Given the description of an element on the screen output the (x, y) to click on. 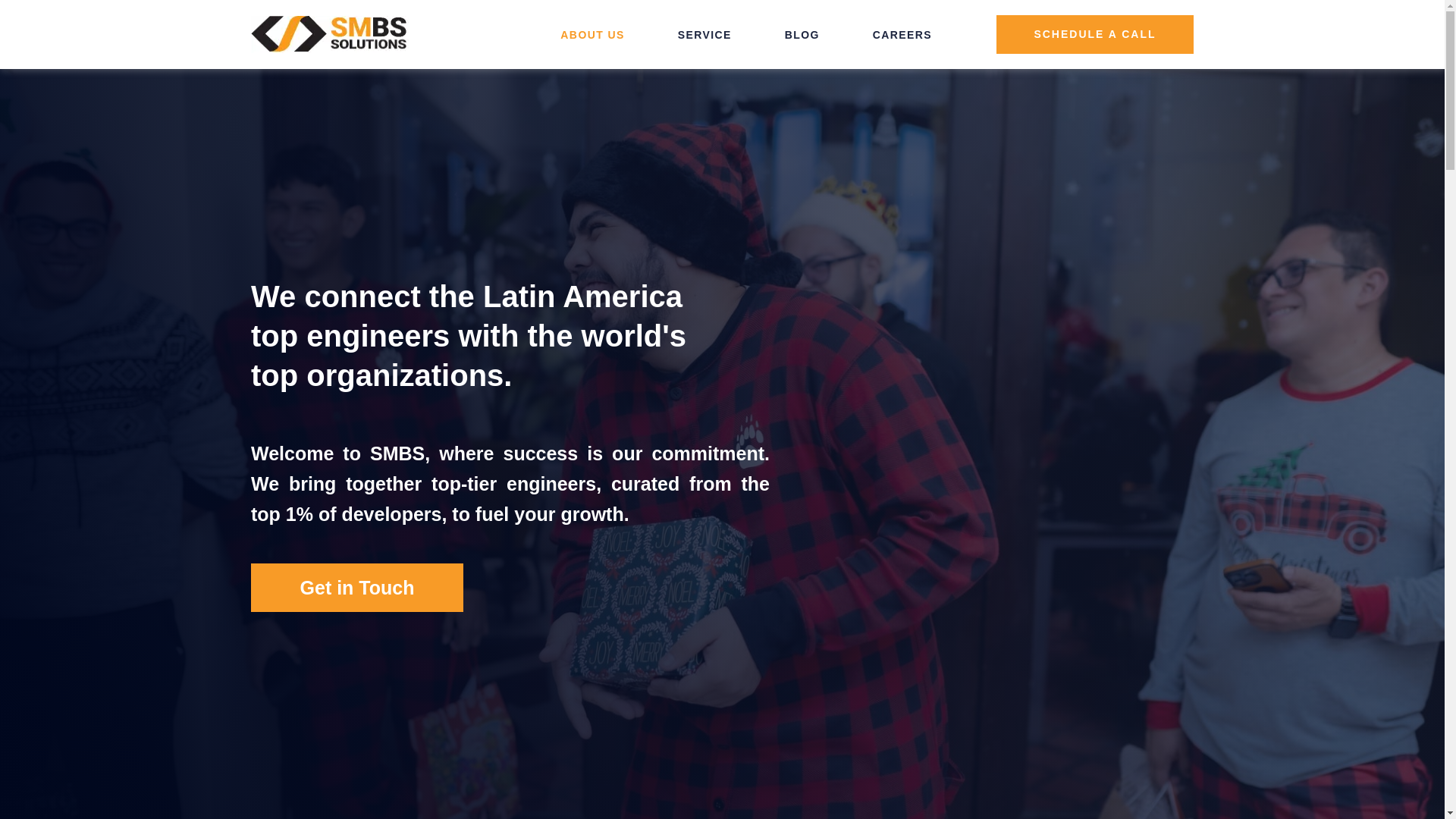
ABOUT US (592, 34)
Get in Touch (356, 586)
SCHEDULE A CALL (1094, 34)
BLOG (801, 34)
SERVICE (705, 34)
CAREERS (901, 34)
